Given the description of an element on the screen output the (x, y) to click on. 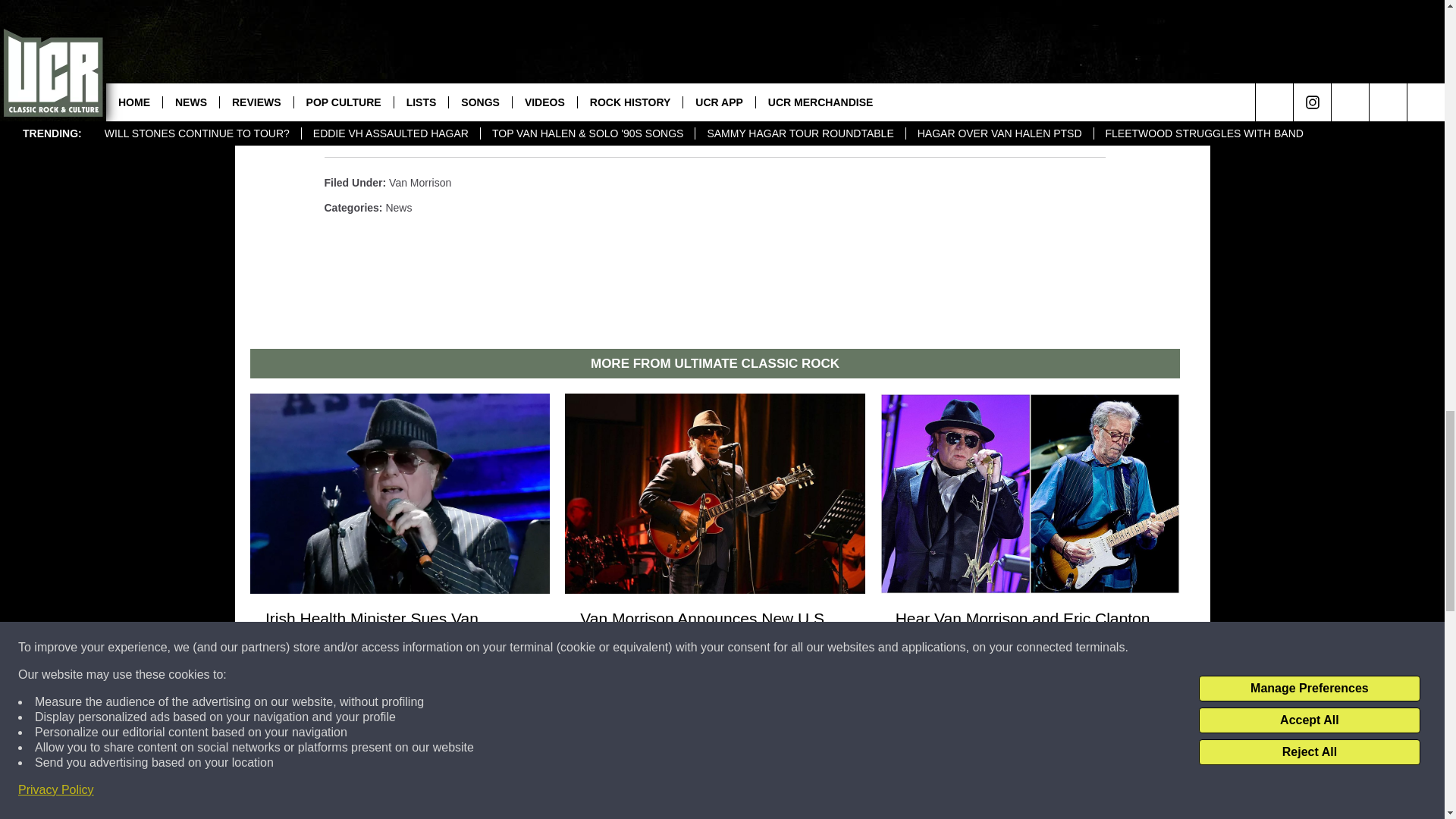
Van Morrison (419, 182)
News (398, 207)
